Given the description of an element on the screen output the (x, y) to click on. 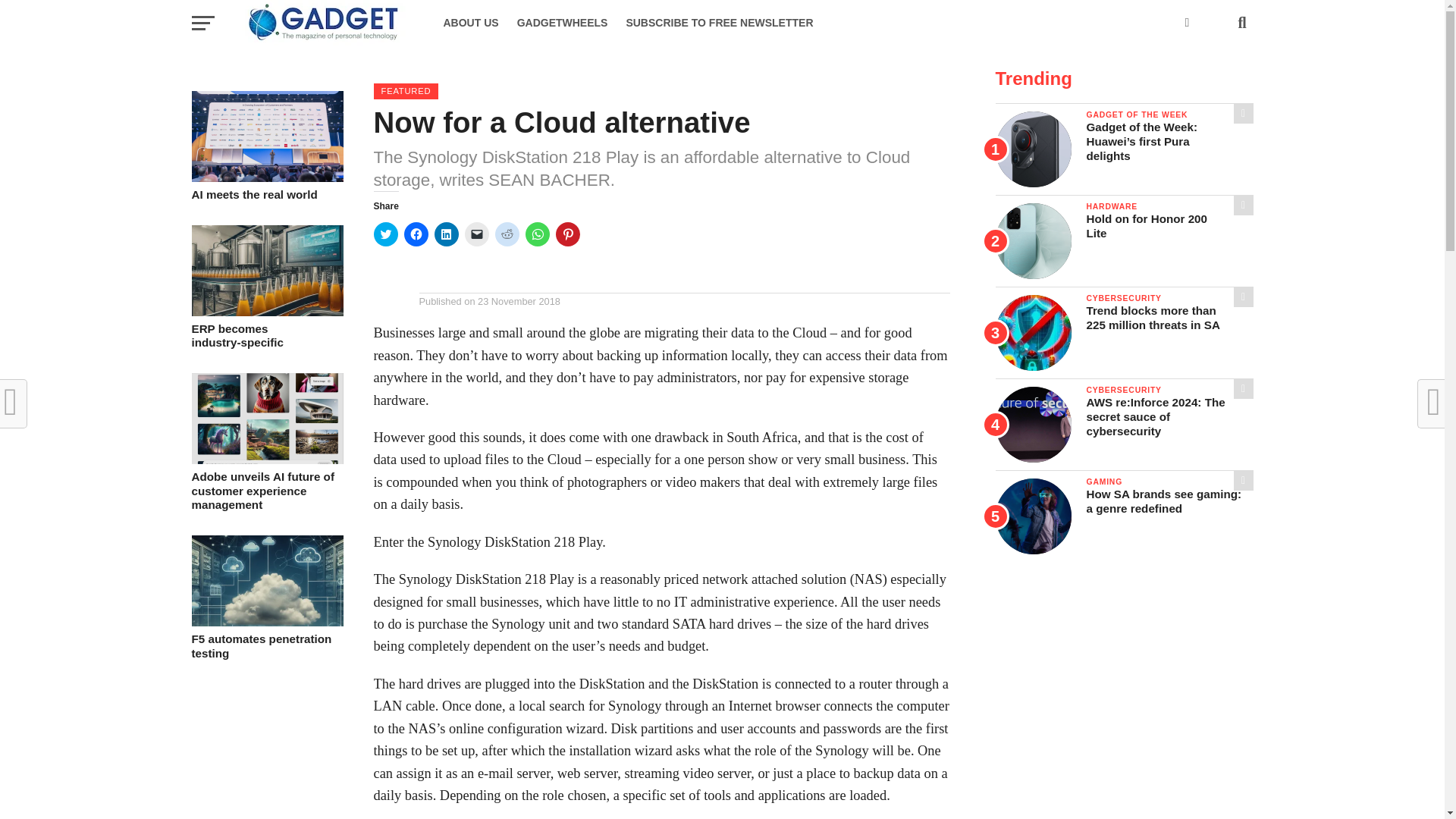
AI meets the real world (266, 195)
Click to share on Facebook (415, 233)
ABOUT US (469, 22)
F5 automates penetration testing (266, 621)
SUBSCRIBE TO FREE NEWSLETTER (718, 22)
Click to share on Reddit (506, 233)
Click to share on LinkedIn (266, 336)
Click to share on WhatsApp (445, 233)
Adobe unveils AI future of customer experience management (536, 233)
Adobe unveils AI future of customer experience management (266, 459)
Click to email a link to a friend (266, 491)
GADGETWHEELS (475, 233)
AI meets the real world (562, 22)
Click to share on Pinterest (266, 177)
